Given the description of an element on the screen output the (x, y) to click on. 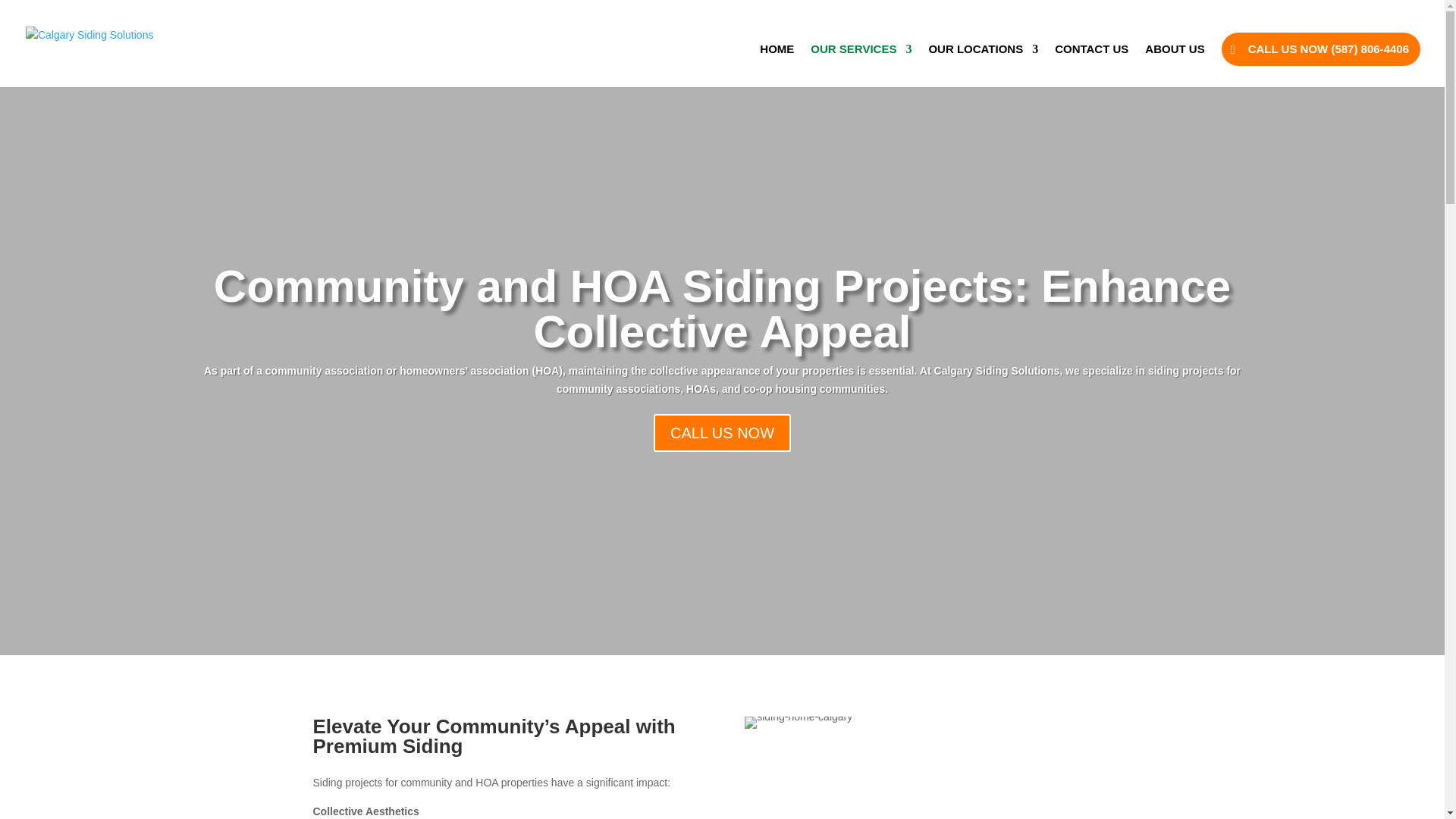
ABOUT US (1174, 65)
OUR LOCATIONS (983, 65)
OUR SERVICES (860, 65)
CALL US NOW (721, 457)
Community and HOA Siding Projects: Enhance Collective Appeal (722, 338)
CONTACT US (1091, 65)
siding-home-calgary (797, 722)
